Given the description of an element on the screen output the (x, y) to click on. 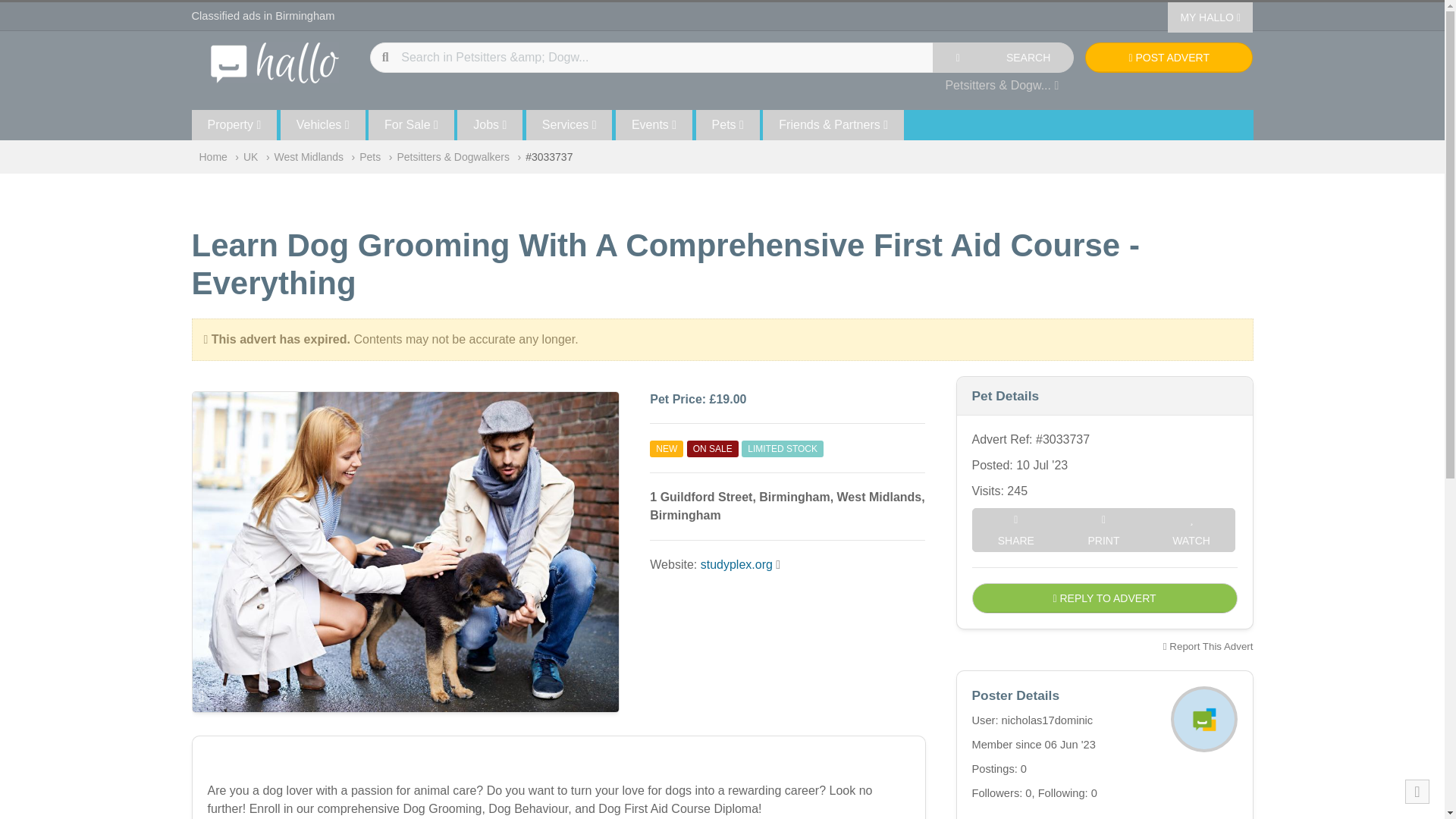
For Sale (411, 124)
Hallo Free Classified Ads (275, 61)
POST ADVERT (1168, 57)
MY HALLO (1209, 17)
SEARCH (1028, 57)
Vehicles (323, 124)
Property (233, 124)
